Given the description of an element on the screen output the (x, y) to click on. 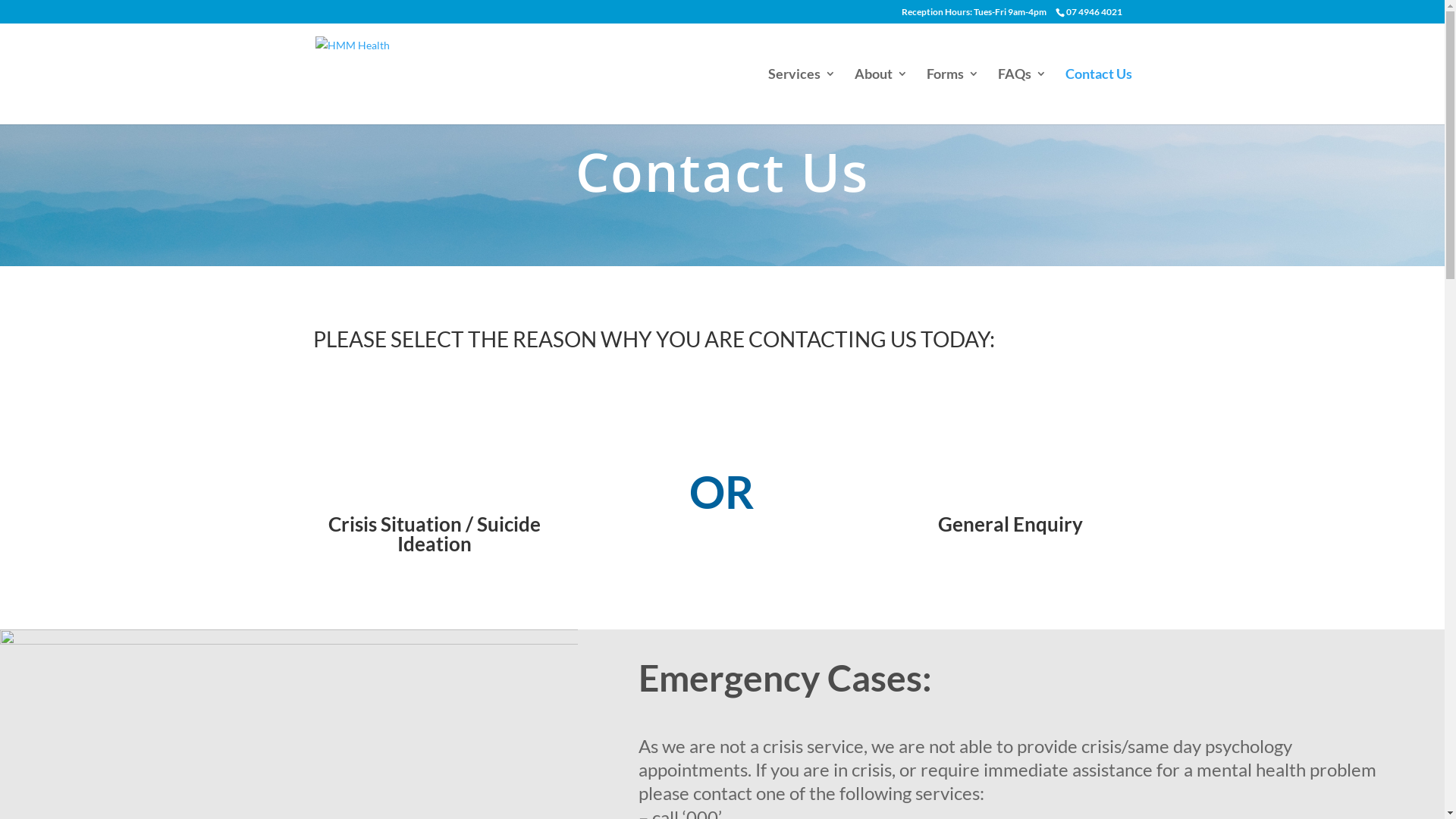
Services Element type: text (800, 96)
Forms Element type: text (952, 96)
About Element type: text (879, 96)
Contact Us Element type: text (1097, 96)
FAQs Element type: text (1021, 96)
